Given the description of an element on the screen output the (x, y) to click on. 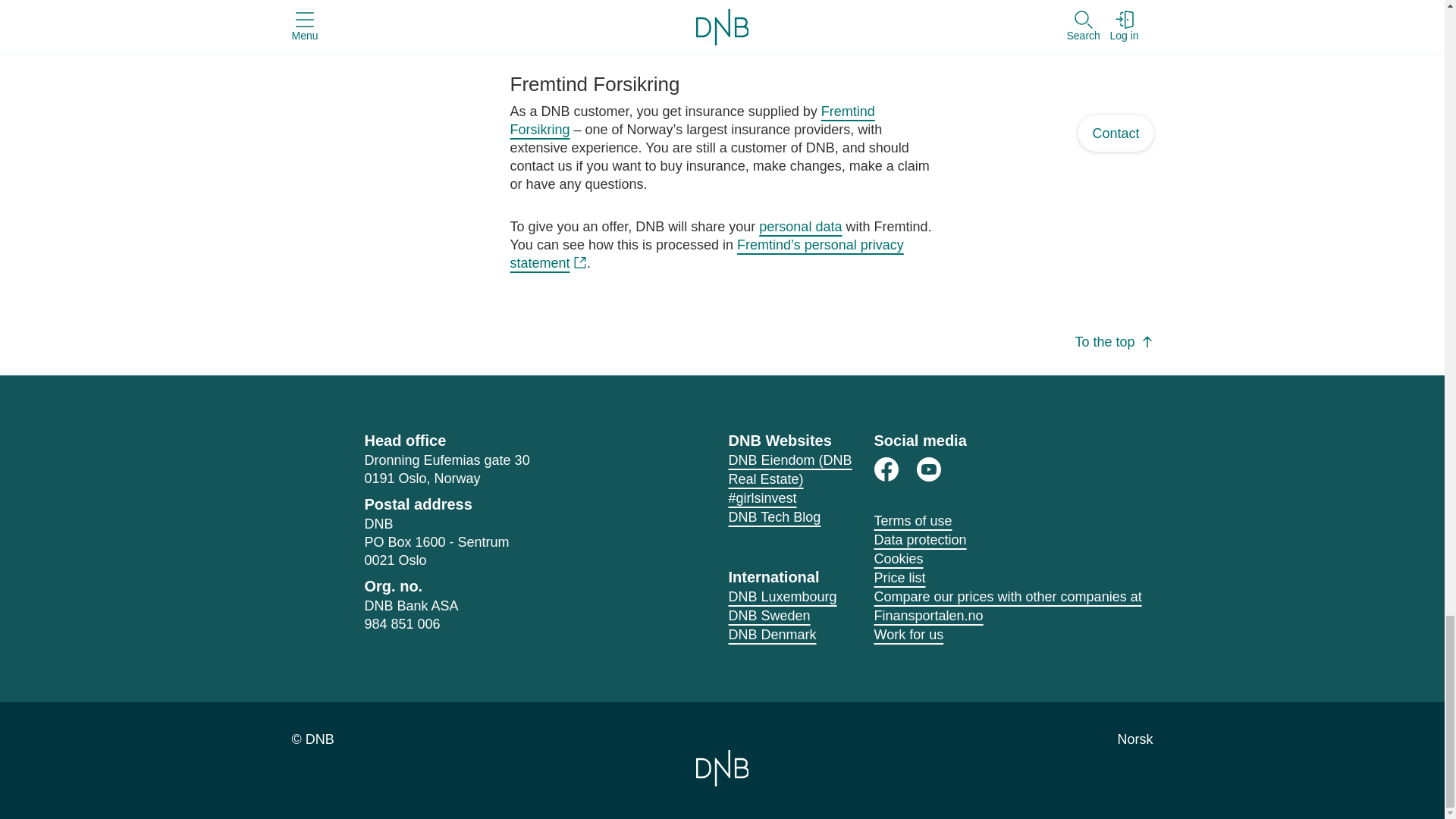
Opens a new window (762, 497)
Opens a new window (705, 253)
Opens a new window (774, 516)
Opens a new window (927, 469)
Opens a new window (885, 469)
Opens a new window (789, 469)
